Given the description of an element on the screen output the (x, y) to click on. 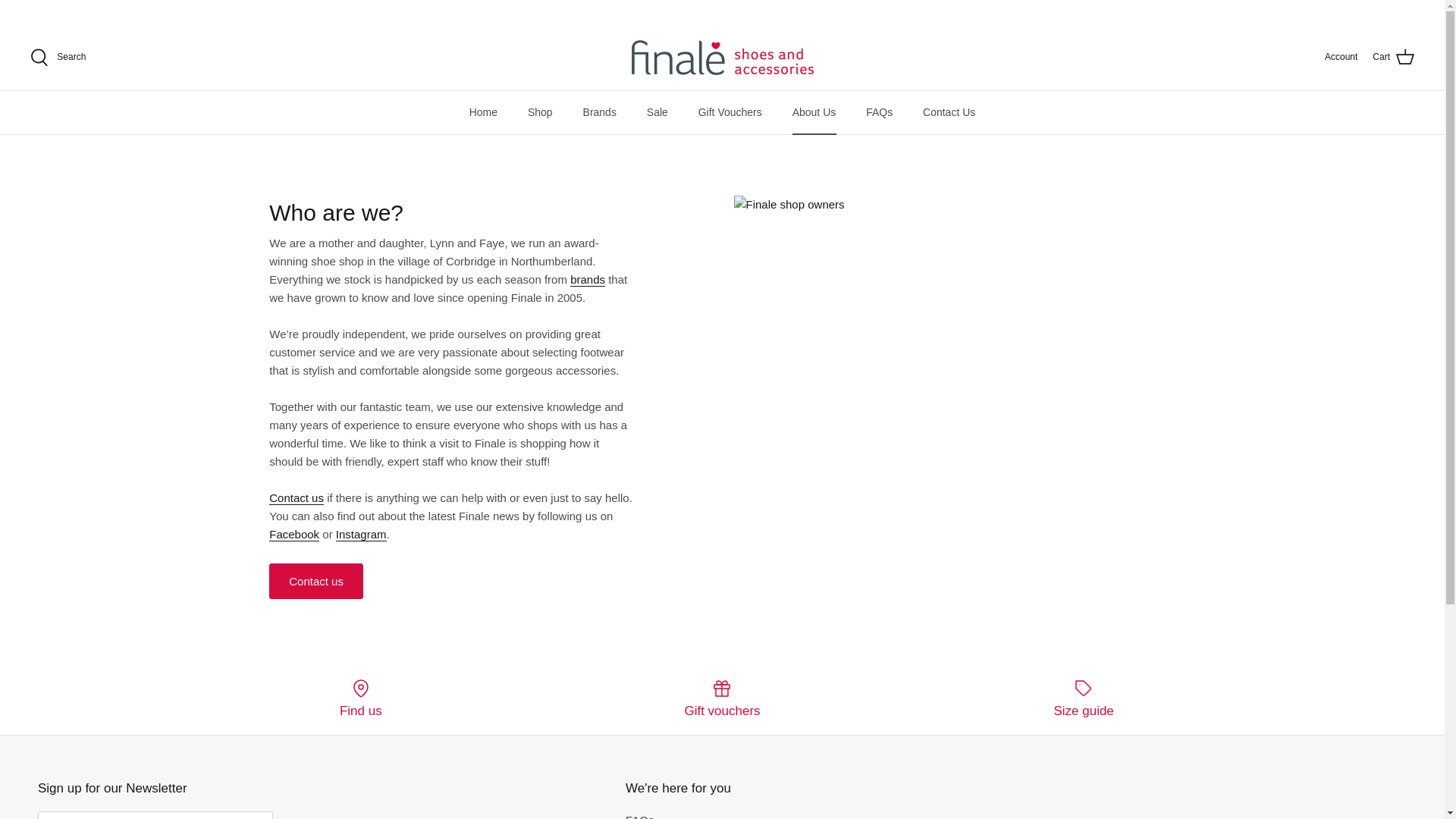
Facebook (56, 11)
Twitter (36, 11)
Search (57, 57)
Twitter (36, 11)
Instagram (79, 11)
Twitter (361, 534)
Instagram (79, 11)
Cart (1393, 57)
Account (1340, 56)
Brands (587, 279)
